Given the description of an element on the screen output the (x, y) to click on. 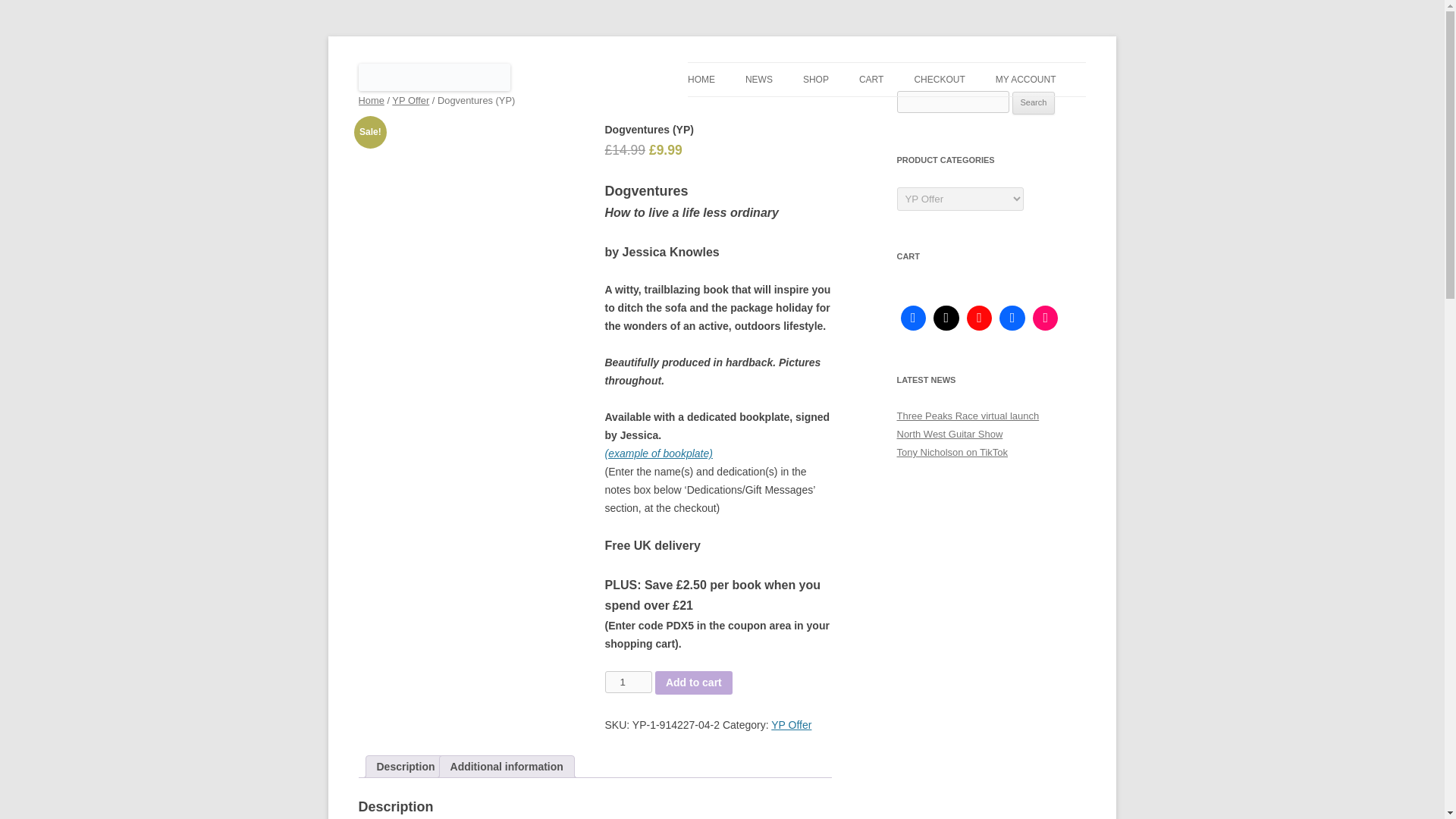
YP Offer (410, 100)
Facebook (913, 318)
Search (1033, 102)
CHECKOUT (938, 79)
Home (371, 100)
Instagram (1045, 318)
X (946, 318)
MY ACCOUNT (1026, 79)
Search (1033, 102)
YP Offer (790, 725)
Youtube (978, 318)
Description (404, 766)
1 (628, 681)
Additional information (506, 766)
